Given the description of an element on the screen output the (x, y) to click on. 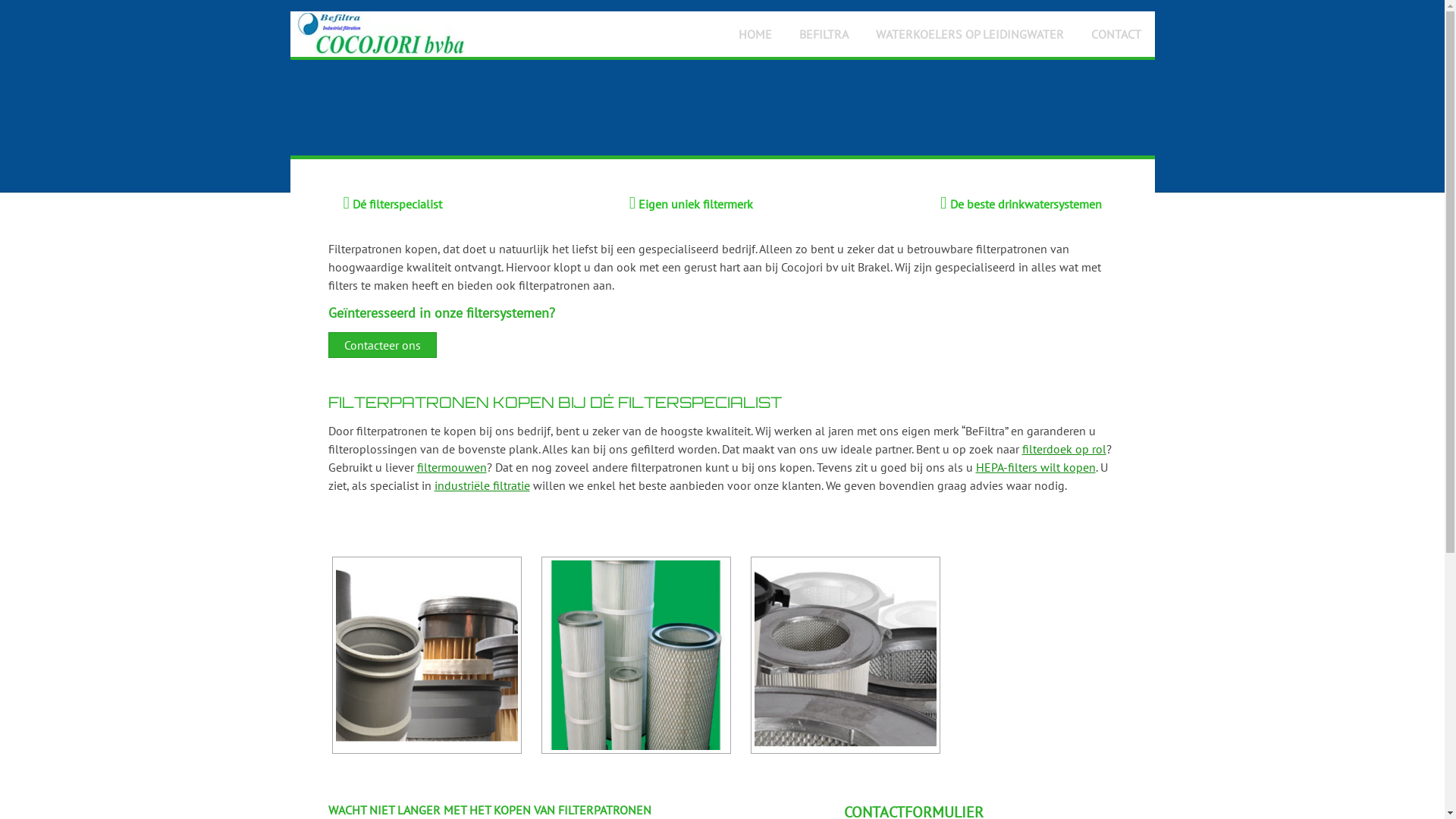
HOME Element type: text (754, 33)
FfV9avmExwdh7S_zWpKIR9XJoOXmzmoL9Q Element type: hover (426, 654)
WATERKOELERS OP LEIDINGWATER Element type: text (968, 33)
JIsqI-P1K_Zf8eJeLI6exXbBmNU1bPAJNw Element type: hover (635, 654)
filtermouwen Element type: text (451, 466)
filterdoek op rol Element type: text (1064, 448)
HEPA-filters wilt kopen Element type: text (1035, 466)
Contacteer ons Element type: text (381, 344)
ZygKT-JW1HPAkUJPSsx4PUnBQFSmbz8pGw Element type: hover (844, 654)
CONTACT Element type: text (1115, 33)
BEFILTRA Element type: text (823, 33)
